Given the description of an element on the screen output the (x, y) to click on. 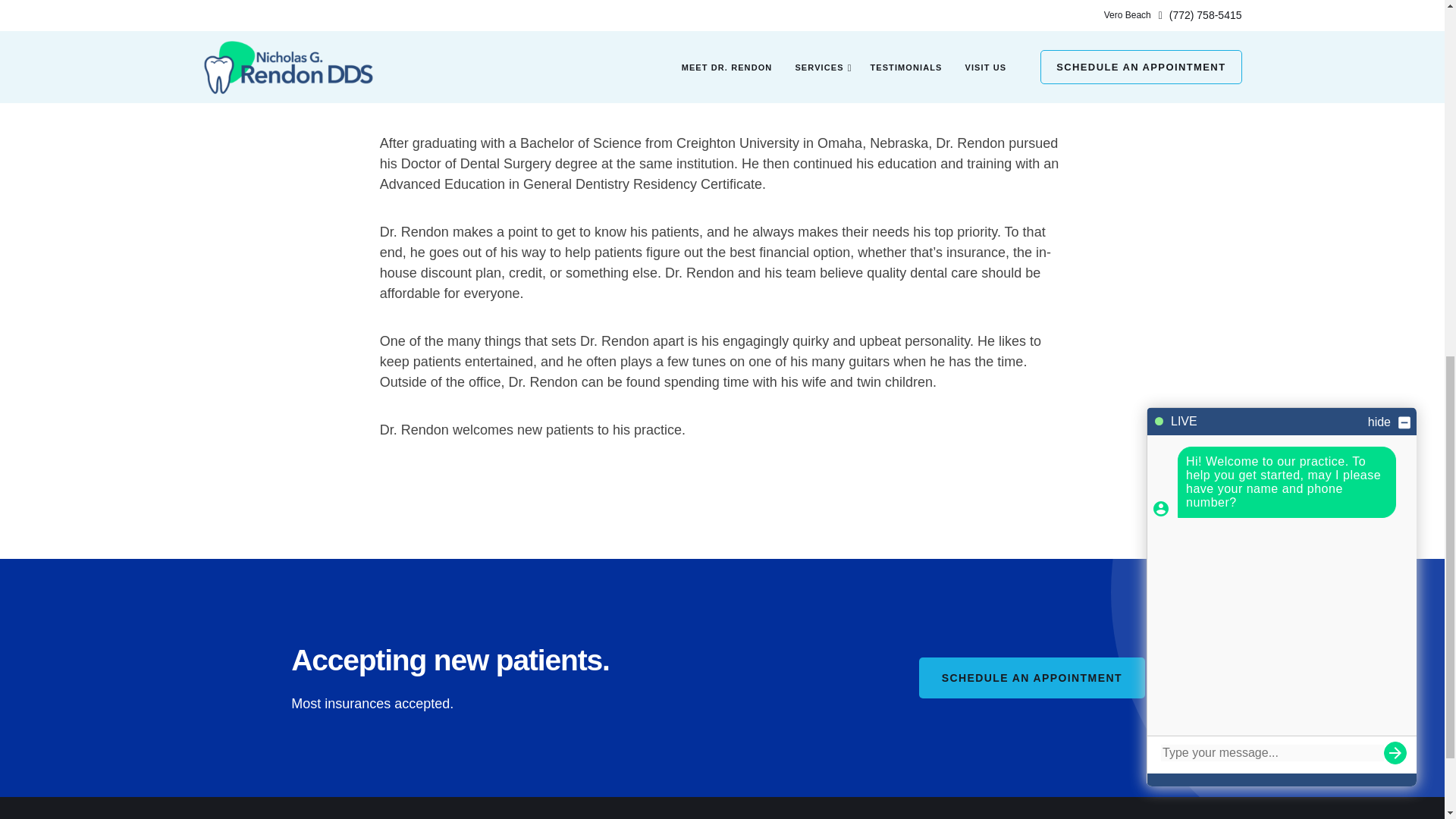
Chat window (1281, 41)
